Given the description of an element on the screen output the (x, y) to click on. 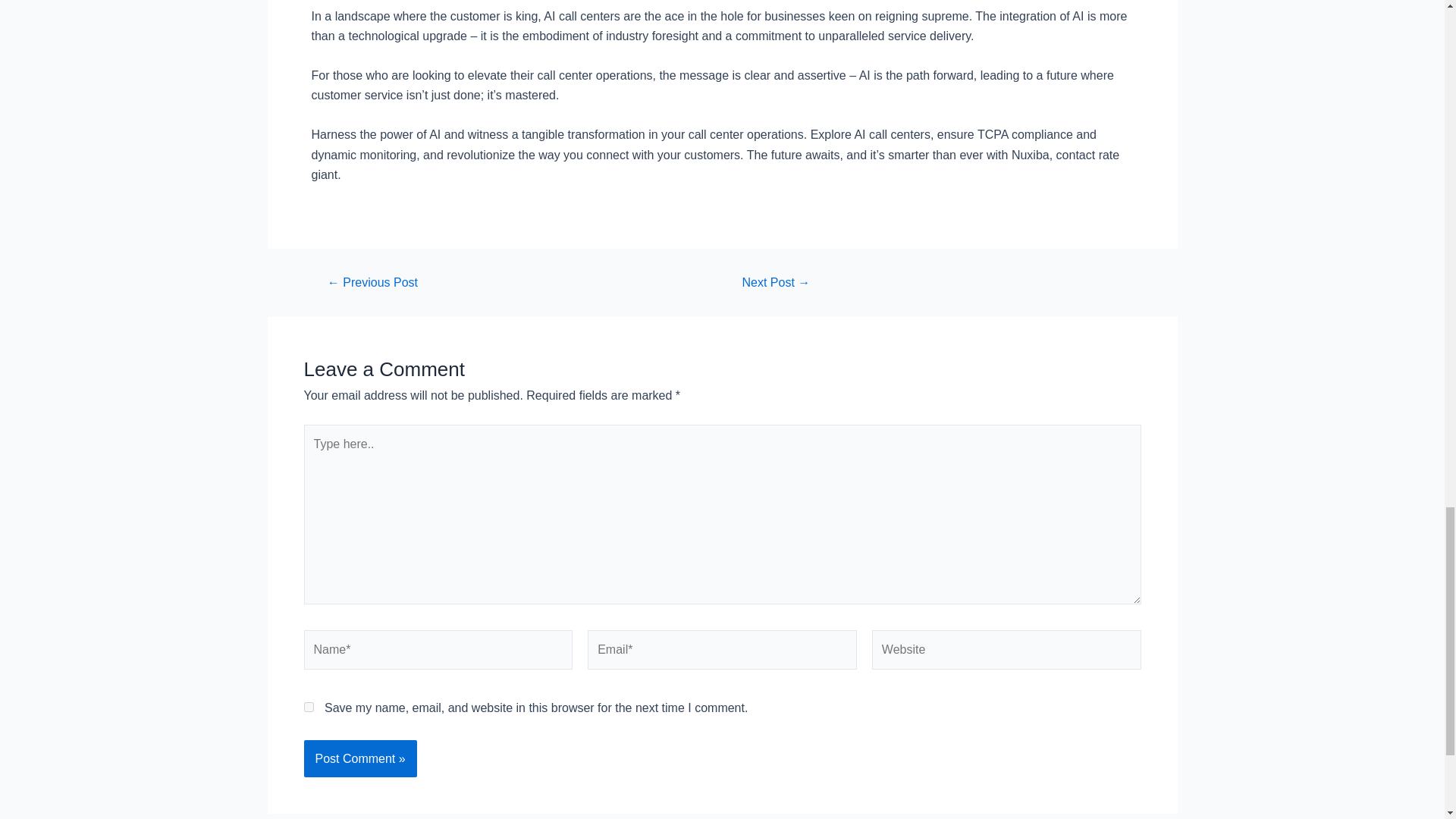
yes (307, 706)
